Given the description of an element on the screen output the (x, y) to click on. 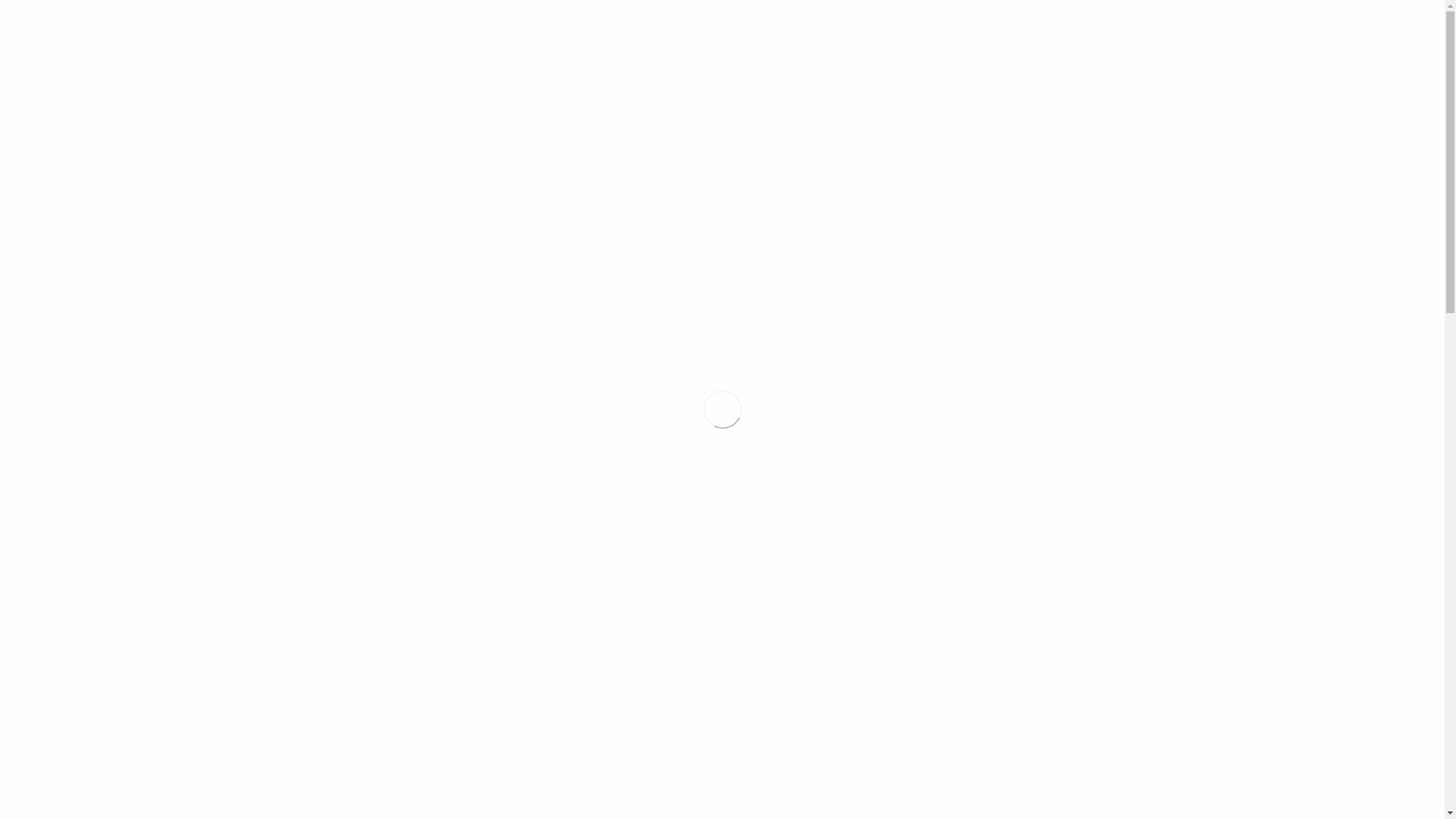
ICS Industries Element type: hover (97, 30)
PROJECTS Element type: text (1229, 28)
1800 010 027     | Element type: text (885, 28)
HOME Element type: text (303, 389)
CONTACT Element type: text (1391, 28)
SERVICES Element type: text (1149, 28)
  Element type: text (721, 329)
HOME Element type: text (985, 28)
DOWNLOADS Element type: text (1314, 28)
PRODUCTS Element type: text (1066, 28)
